Given the description of an element on the screen output the (x, y) to click on. 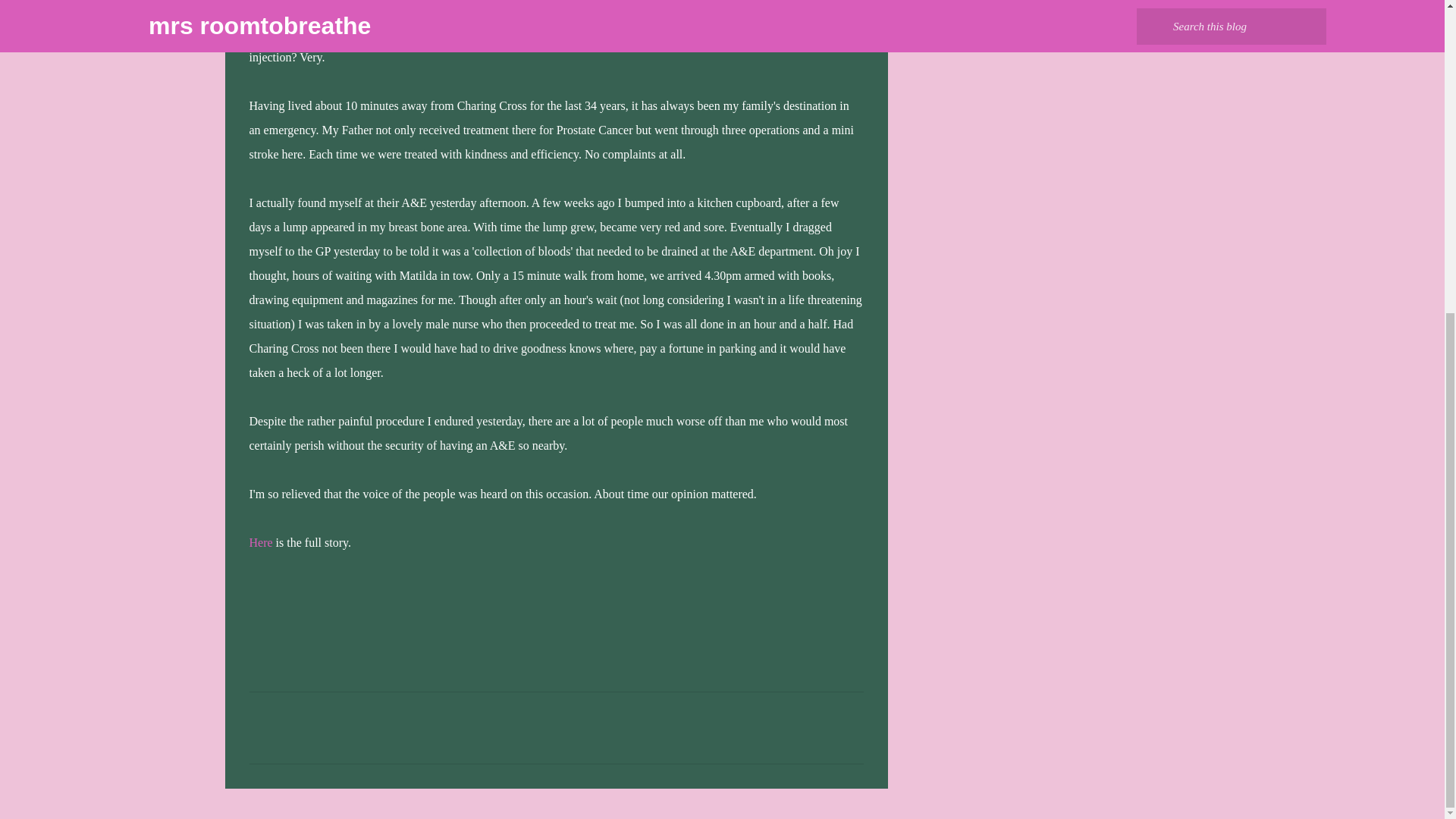
Here (260, 542)
Email Post (257, 593)
